Given the description of an element on the screen output the (x, y) to click on. 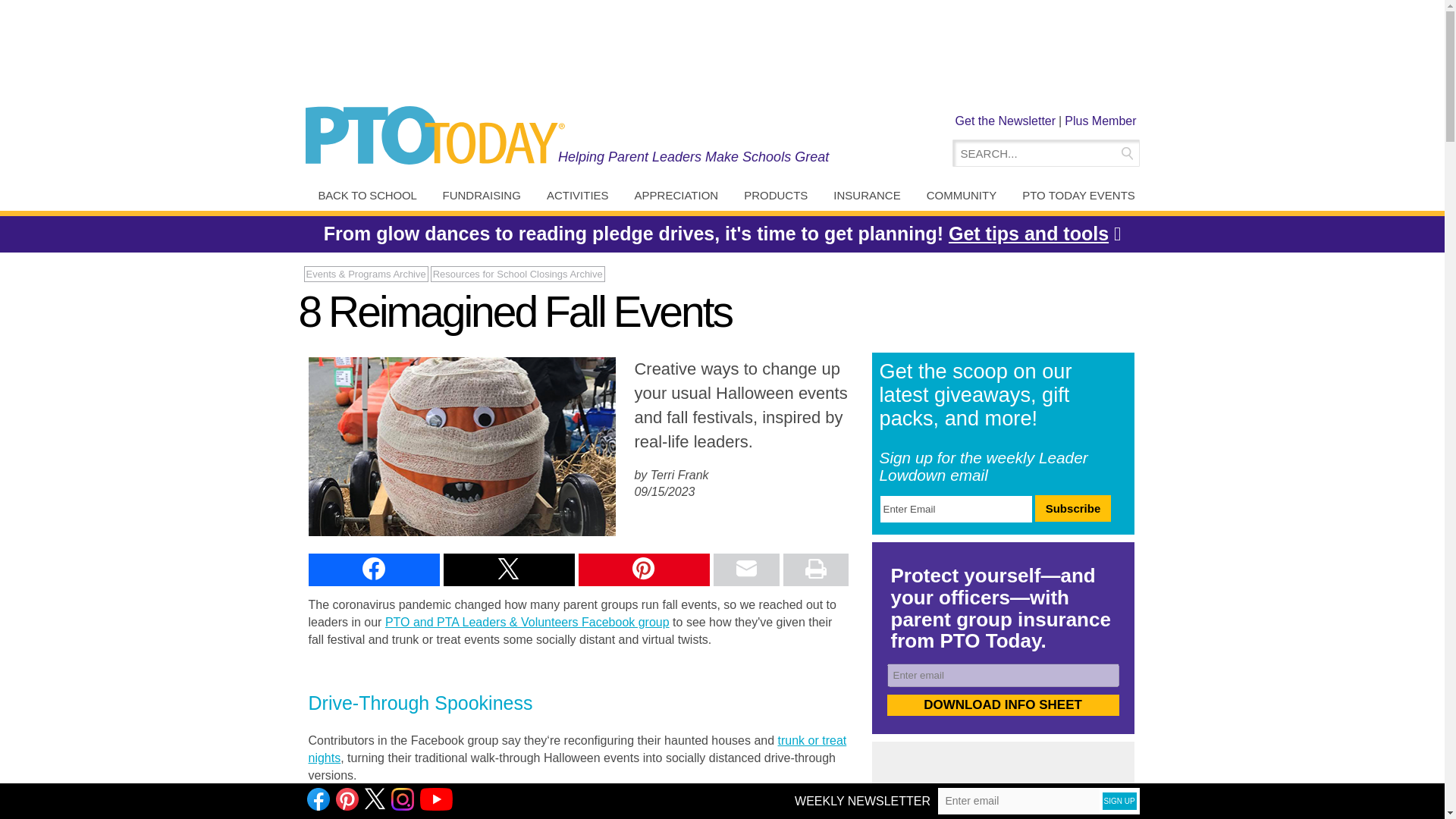
BACK TO SCHOOL (367, 195)
APPRECIATION (677, 195)
SIGN UP (1119, 800)
Helping Parent Leaders Make Schools Great (692, 156)
FUNDRAISING (481, 195)
SEARCH... (1036, 153)
Search (1125, 153)
Search (1125, 153)
3rd party ad content (1003, 789)
Enter Email (956, 509)
SEARCH... (1036, 153)
ACTIVITIES (577, 195)
Get the Newsletter (1006, 121)
3rd party ad content (721, 52)
Plus Member (1099, 121)
